Given the description of an element on the screen output the (x, y) to click on. 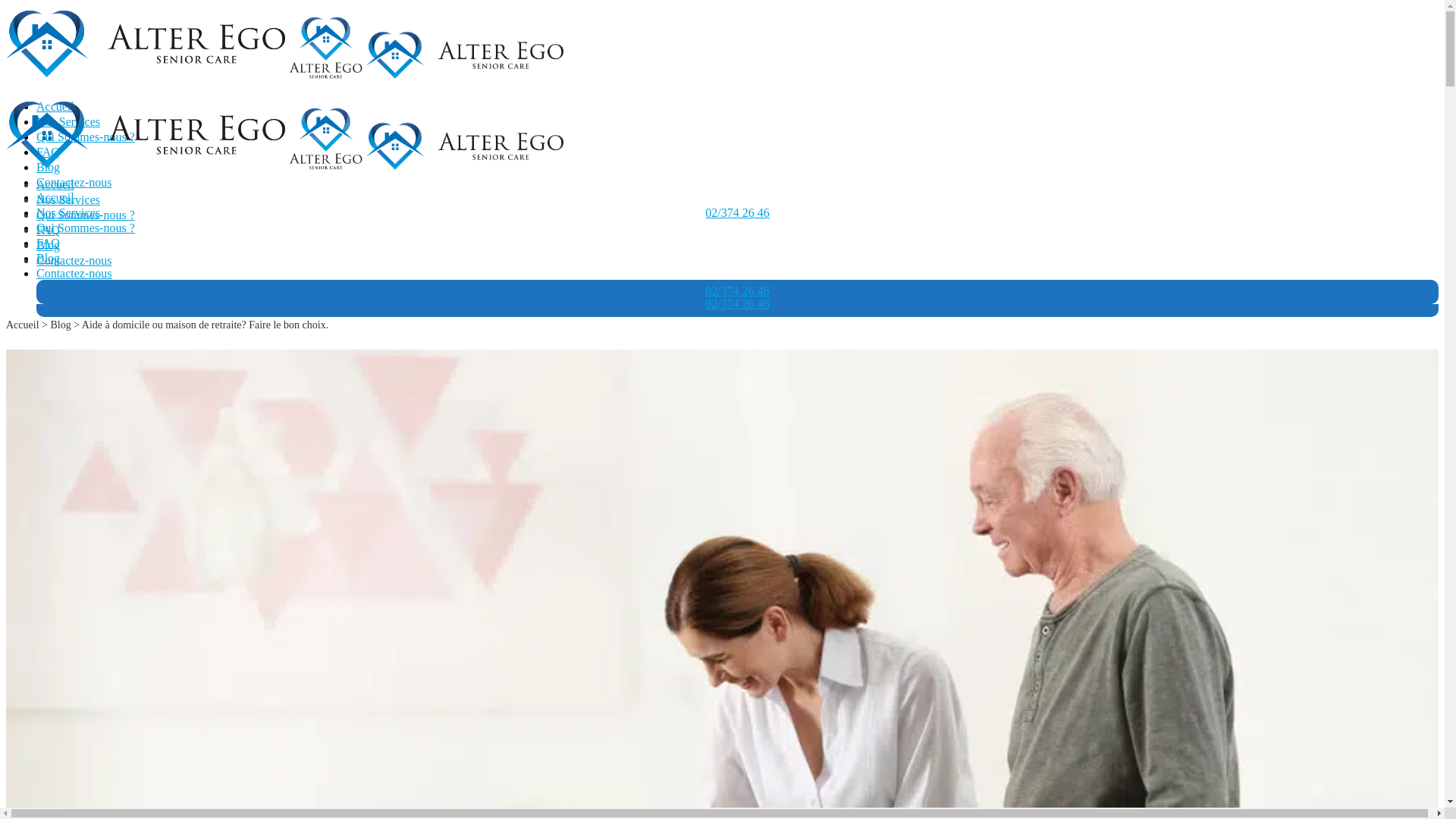
Nos Services Element type: text (68, 121)
Accueil Element type: text (55, 106)
Nos Services Element type: text (68, 199)
Contactez-nous Element type: text (74, 260)
02/374 26 46 Element type: text (736, 290)
Blog Element type: text (60, 324)
FAQ Element type: text (47, 151)
Contactez-nous Element type: text (74, 181)
Qui Sommes-nous ? Element type: text (85, 214)
Qui Sommes-nous ? Element type: text (85, 136)
Contactez-nous Element type: text (74, 272)
Accueil Element type: text (22, 324)
Nos Services Element type: text (68, 212)
Accueil Element type: text (55, 197)
Accueil Element type: text (55, 184)
Blog Element type: text (47, 166)
02/374 26 46 Element type: text (736, 212)
FAQ Element type: text (47, 242)
FAQ Element type: text (47, 229)
Qui Sommes-nous ? Element type: text (85, 227)
Blog Element type: text (47, 257)
02/374 26 46 Element type: text (736, 303)
Blog Element type: text (47, 244)
